Given the description of an element on the screen output the (x, y) to click on. 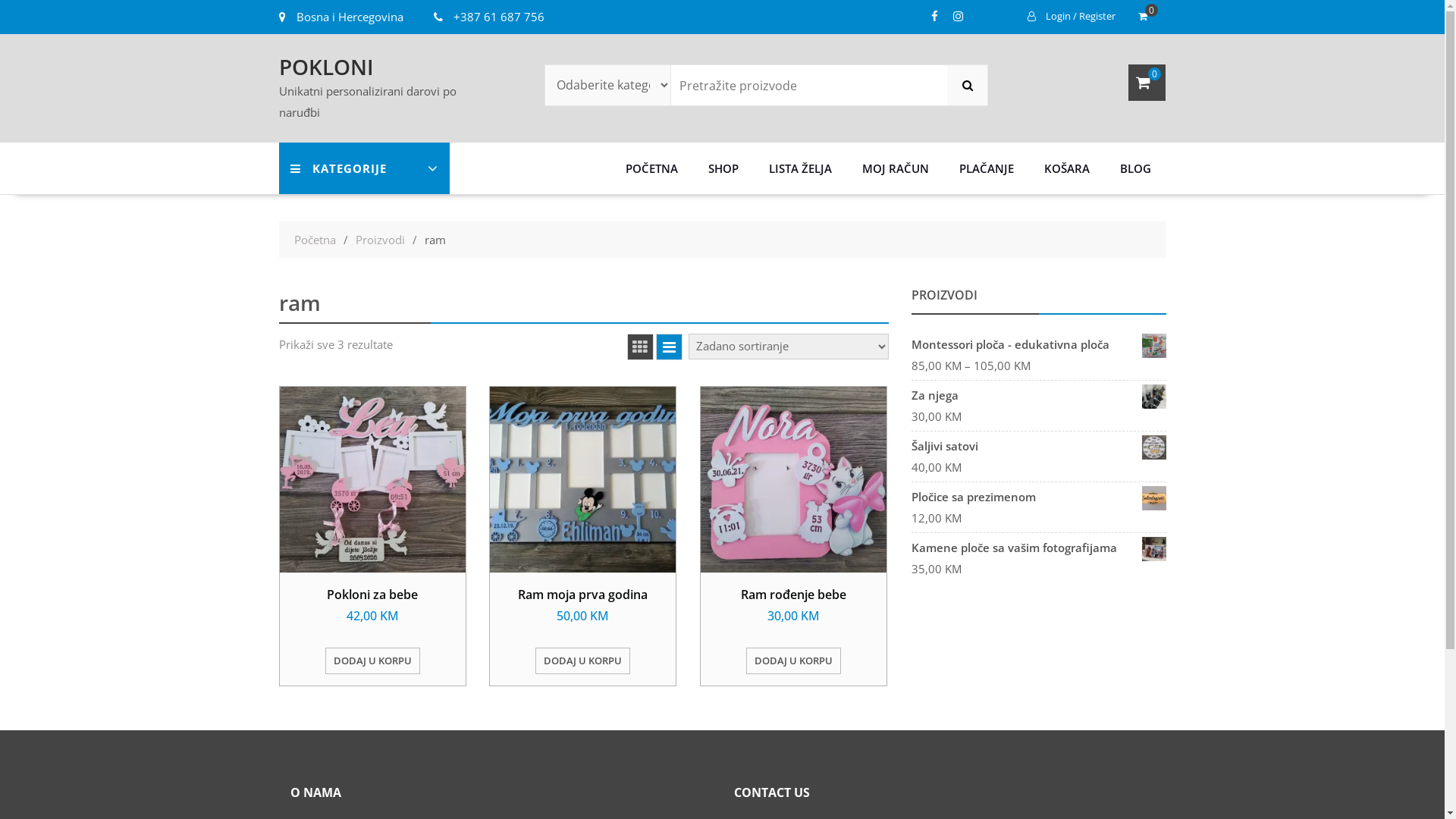
BLOG Element type: text (1134, 168)
Grid View Element type: hover (639, 346)
Pokloni za bebe Element type: text (371, 594)
SEARCH Element type: text (967, 85)
DODAJ U KORPU Element type: text (793, 660)
List View Element type: hover (668, 346)
POKLONI Element type: text (326, 66)
DODAJ U KORPU Element type: text (582, 660)
KATEGORIJE Element type: text (364, 168)
0 Element type: text (1146, 82)
Ram moja prva godina Element type: text (582, 594)
Login / Register Element type: text (1070, 16)
SHOP Element type: text (723, 168)
Za njega Element type: text (1038, 394)
DODAJ U KORPU Element type: text (372, 660)
Proizvodi Element type: text (379, 239)
0 Element type: text (1145, 16)
